Given the description of an element on the screen output the (x, y) to click on. 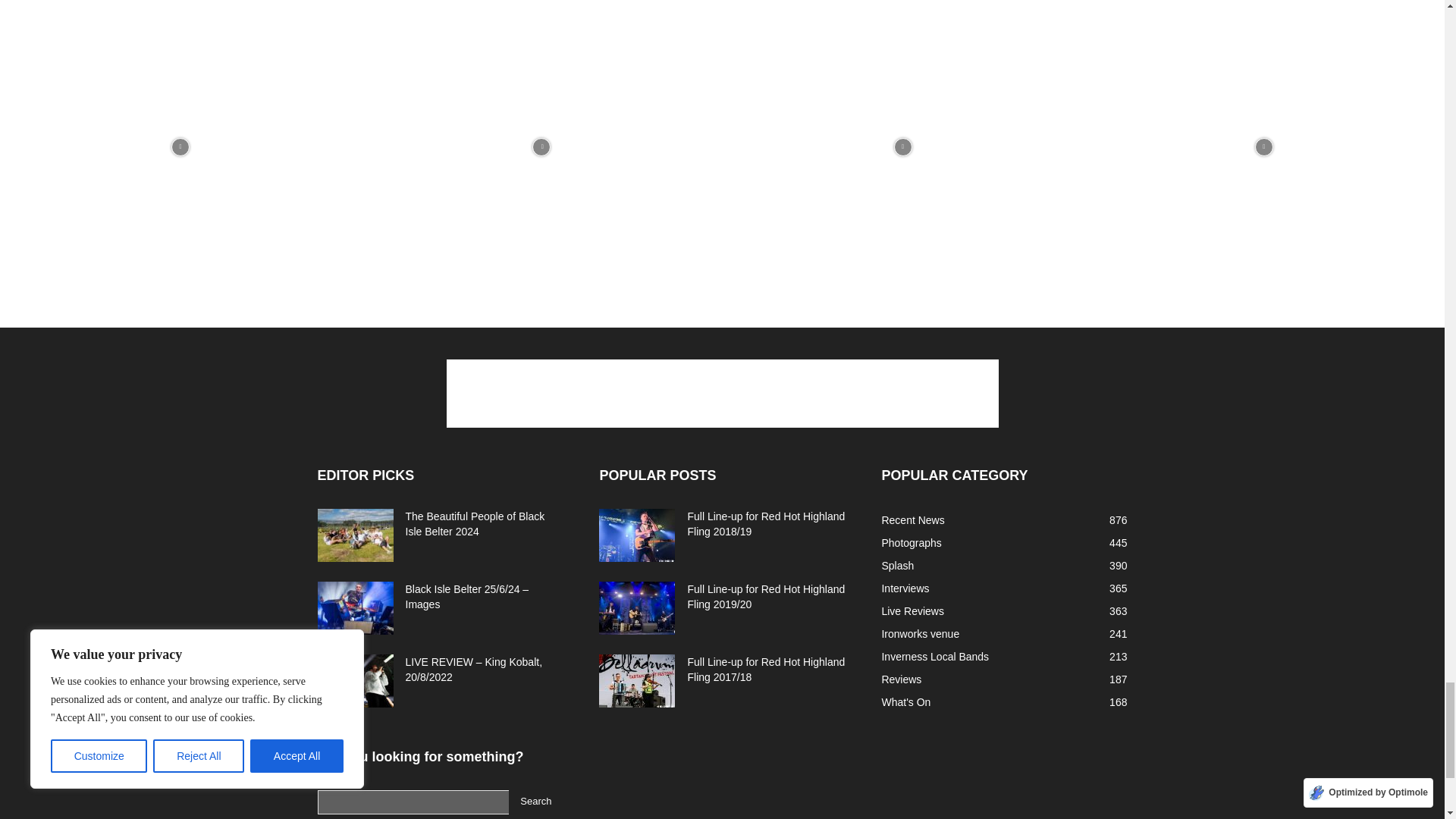
Search (535, 802)
